Given the description of an element on the screen output the (x, y) to click on. 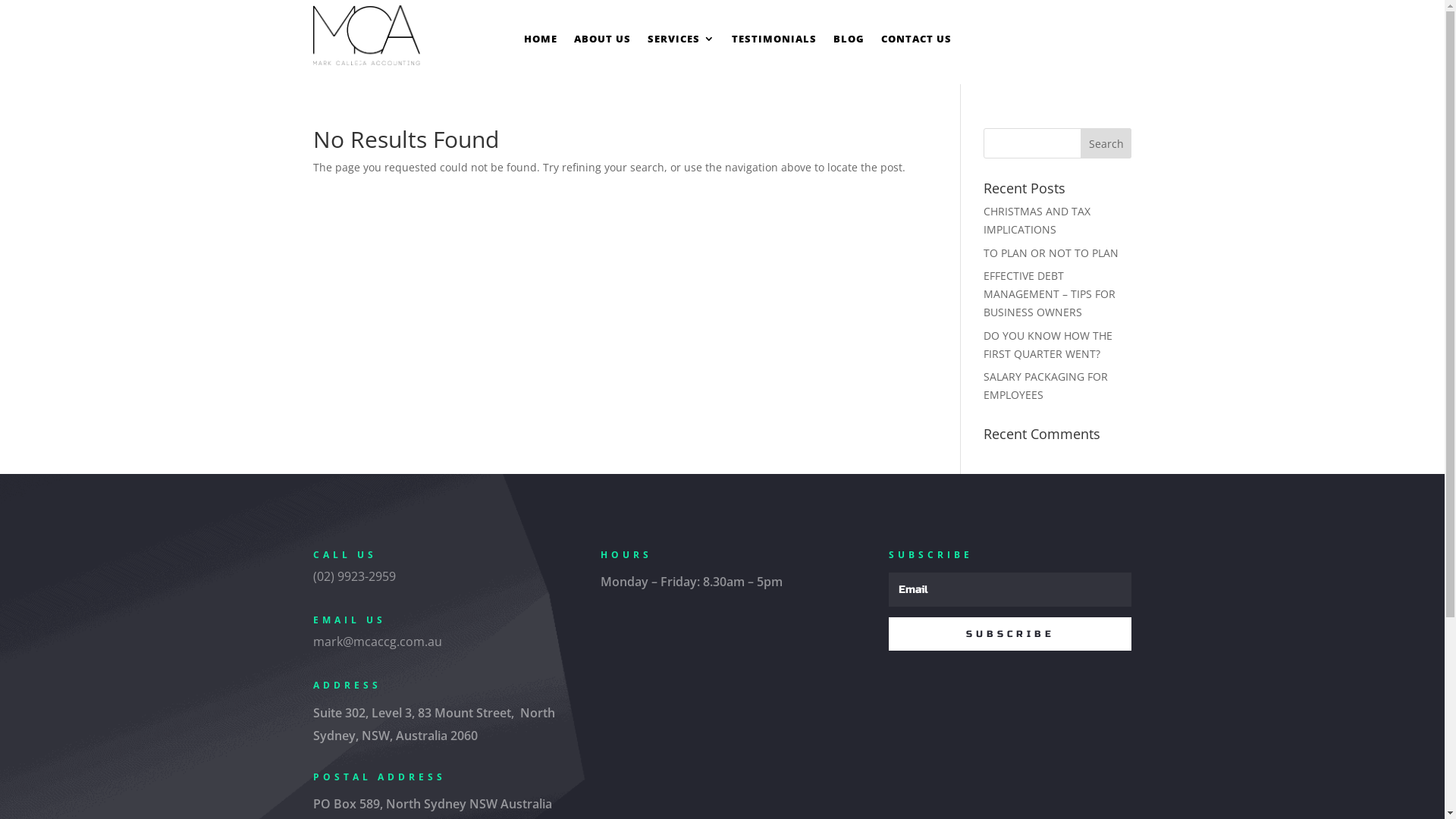
CONTACT US Element type: text (916, 41)
TESTIMONIALS Element type: text (773, 41)
BLOG Element type: text (848, 41)
DO YOU KNOW HOW THE FIRST QUARTER WENT? Element type: text (1047, 344)
HOME Element type: text (540, 41)
SUBSCRIBE Element type: text (1009, 633)
(02) 9923-2959 Element type: text (353, 575)
mark@mcaccg.com.au Element type: text (376, 641)
CHRISTMAS AND TAX IMPLICATIONS Element type: text (1036, 219)
SERVICES Element type: text (681, 41)
SALARY PACKAGING FOR EMPLOYEES Element type: text (1045, 385)
MC_logos-FA (002) Element type: hover (366, 35)
TO PLAN OR NOT TO PLAN Element type: text (1050, 252)
ABOUT US Element type: text (602, 41)
Search Element type: text (1106, 143)
